Given the description of an element on the screen output the (x, y) to click on. 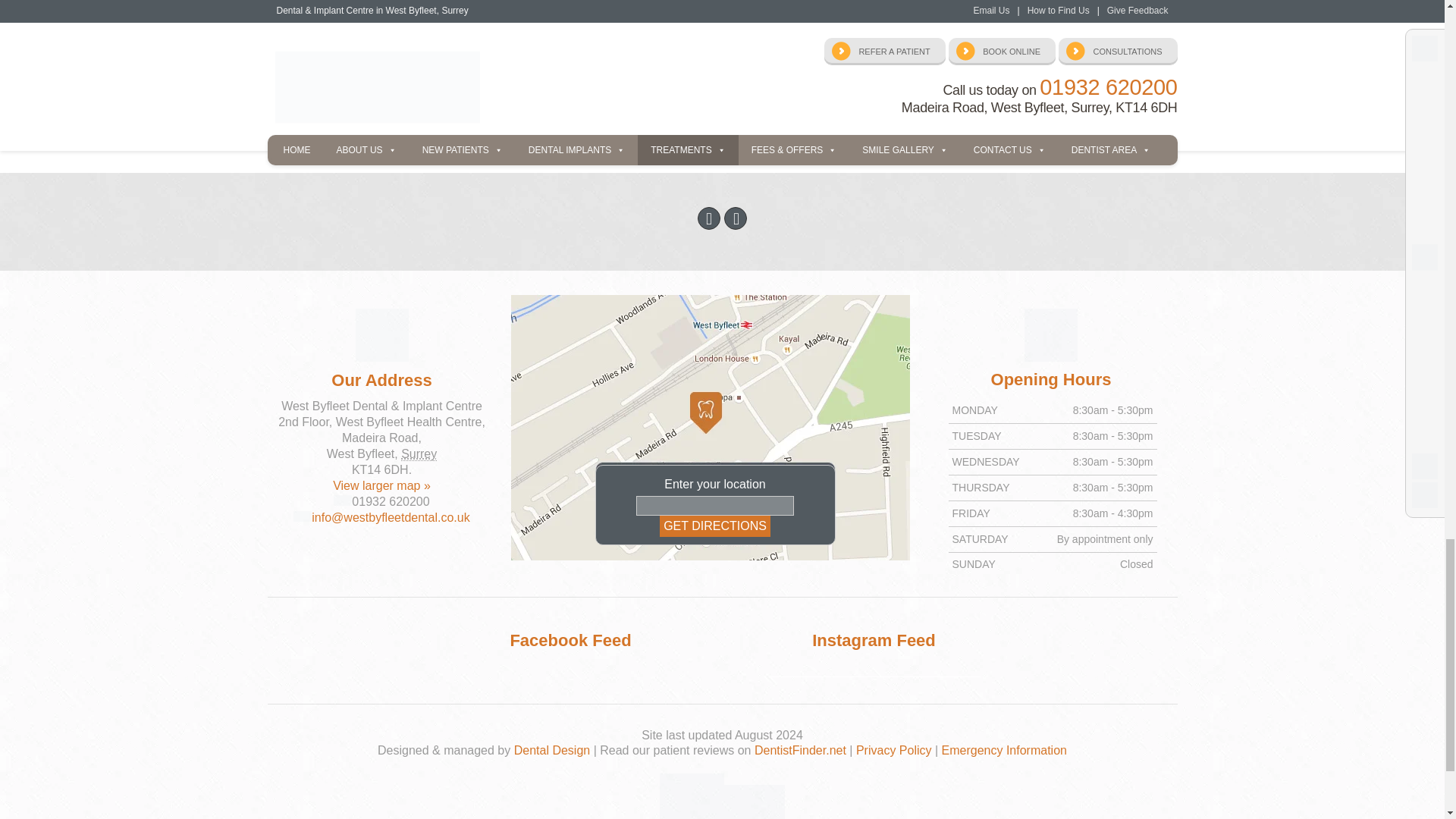
Surrey (418, 454)
Get directions (714, 526)
